Given the description of an element on the screen output the (x, y) to click on. 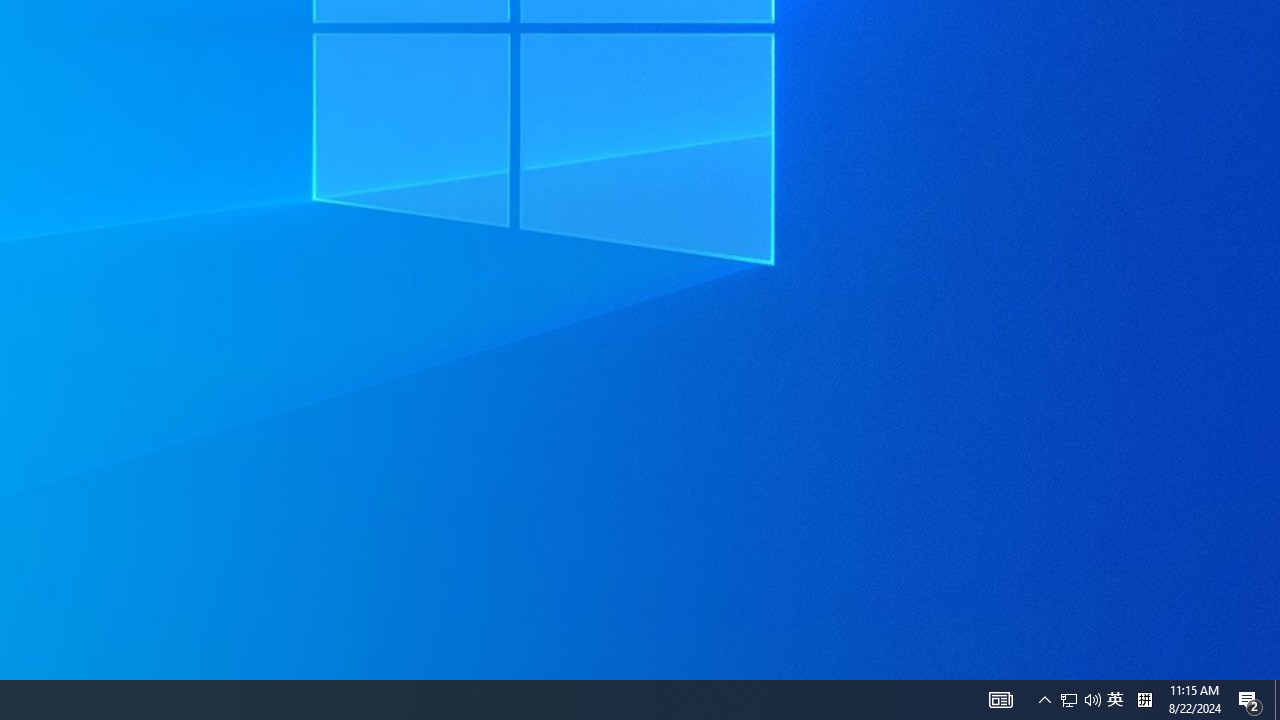
User Promoted Notification Area (1080, 699)
Show desktop (1277, 699)
Q2790: 100% (1092, 699)
AutomationID: 4105 (1000, 699)
Action Center, 2 new notifications (1250, 699)
Tray Input Indicator - Chinese (Simplified, China) (1069, 699)
Notification Chevron (1115, 699)
